Given the description of an element on the screen output the (x, y) to click on. 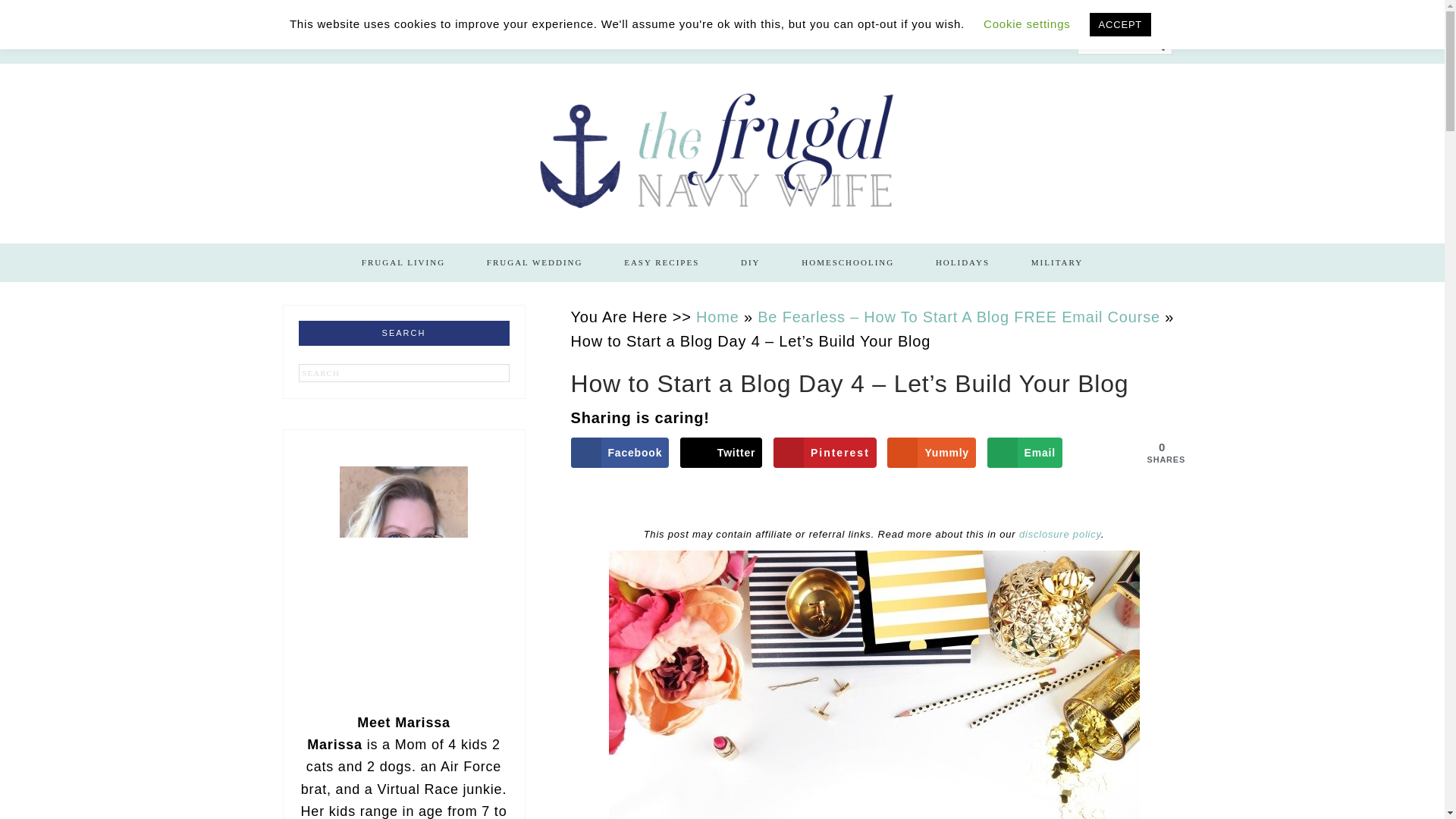
Our Roaming Hearts (620, 43)
Powered by Lead Stories' OpenShareCount' (10, 10)
Pinterest (824, 452)
Home (717, 315)
DIY (750, 261)
HOW TO START A BLOG (466, 43)
SHOP OUR STORE (326, 43)
EASY RECIPES (661, 261)
Frugal holidays (963, 261)
disclosure policy (1059, 533)
